Given the description of an element on the screen output the (x, y) to click on. 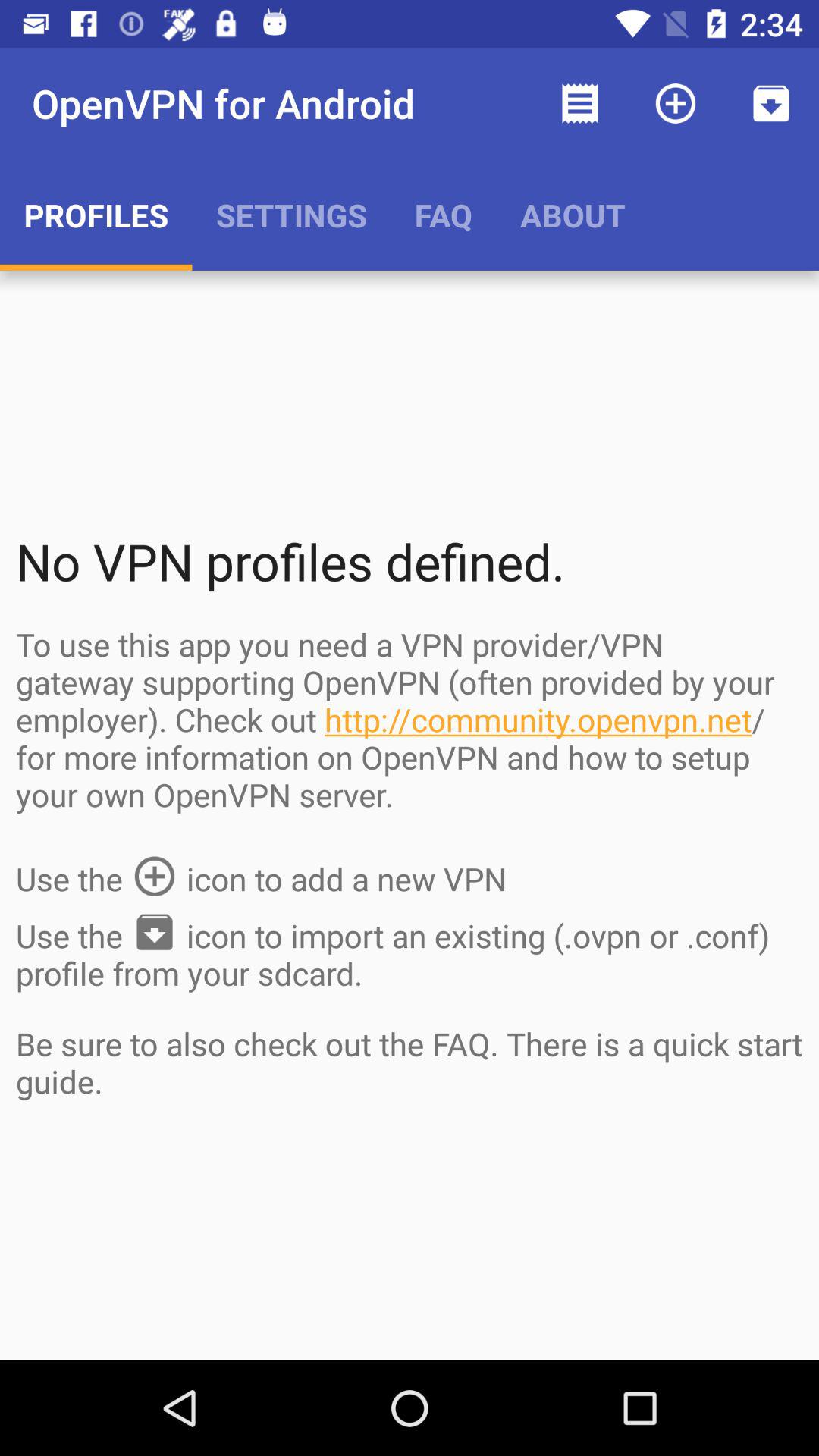
scroll until the settings item (291, 214)
